Given the description of an element on the screen output the (x, y) to click on. 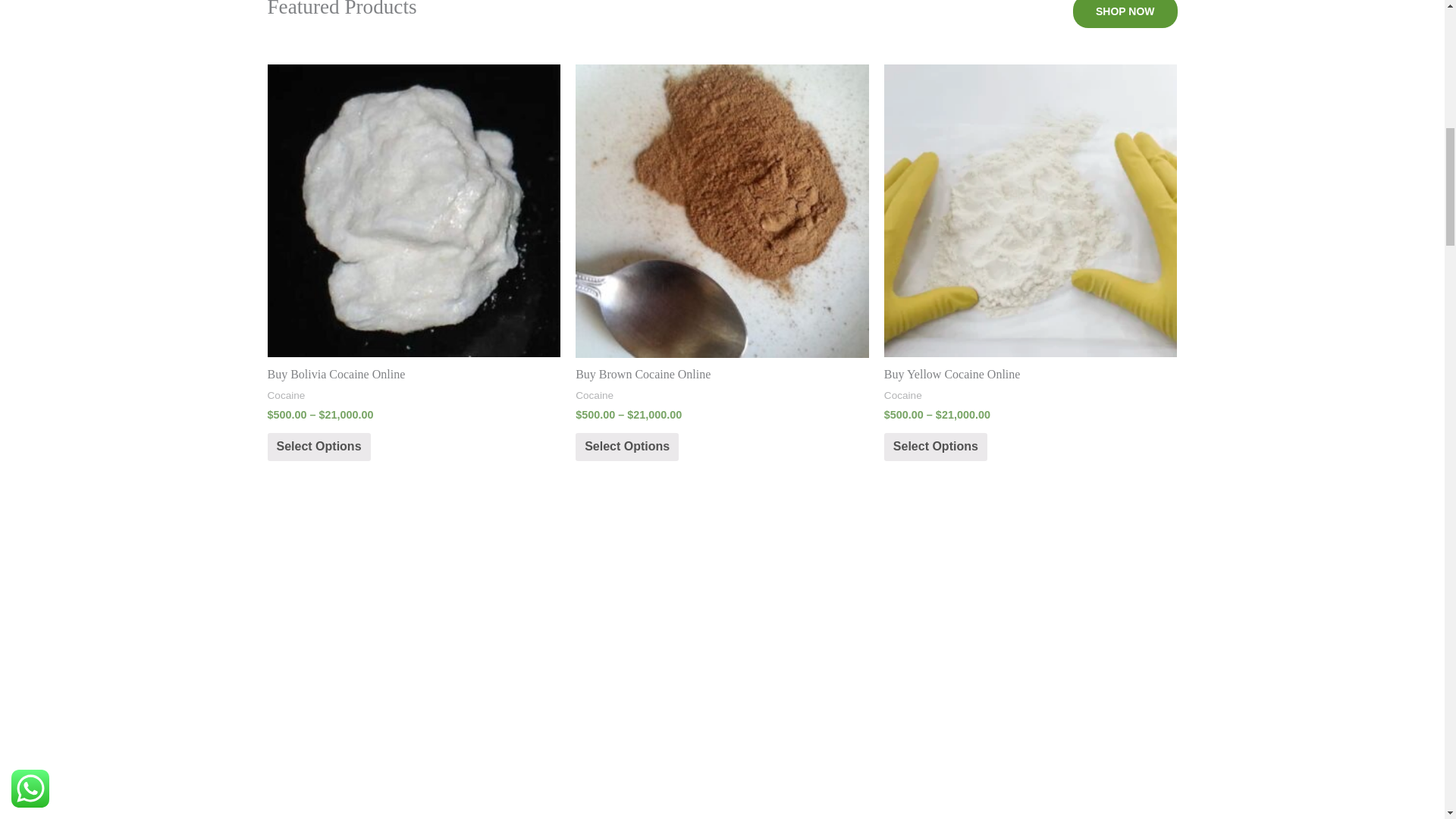
Buy Yellow Cocaine Online (1030, 374)
Select Options (935, 447)
Buy Bolivia Cocaine Online (413, 374)
Select Options (626, 447)
SHOP NOW (1125, 13)
Buy Brown Cocaine Online (722, 374)
Select Options (317, 447)
